Given the description of an element on the screen output the (x, y) to click on. 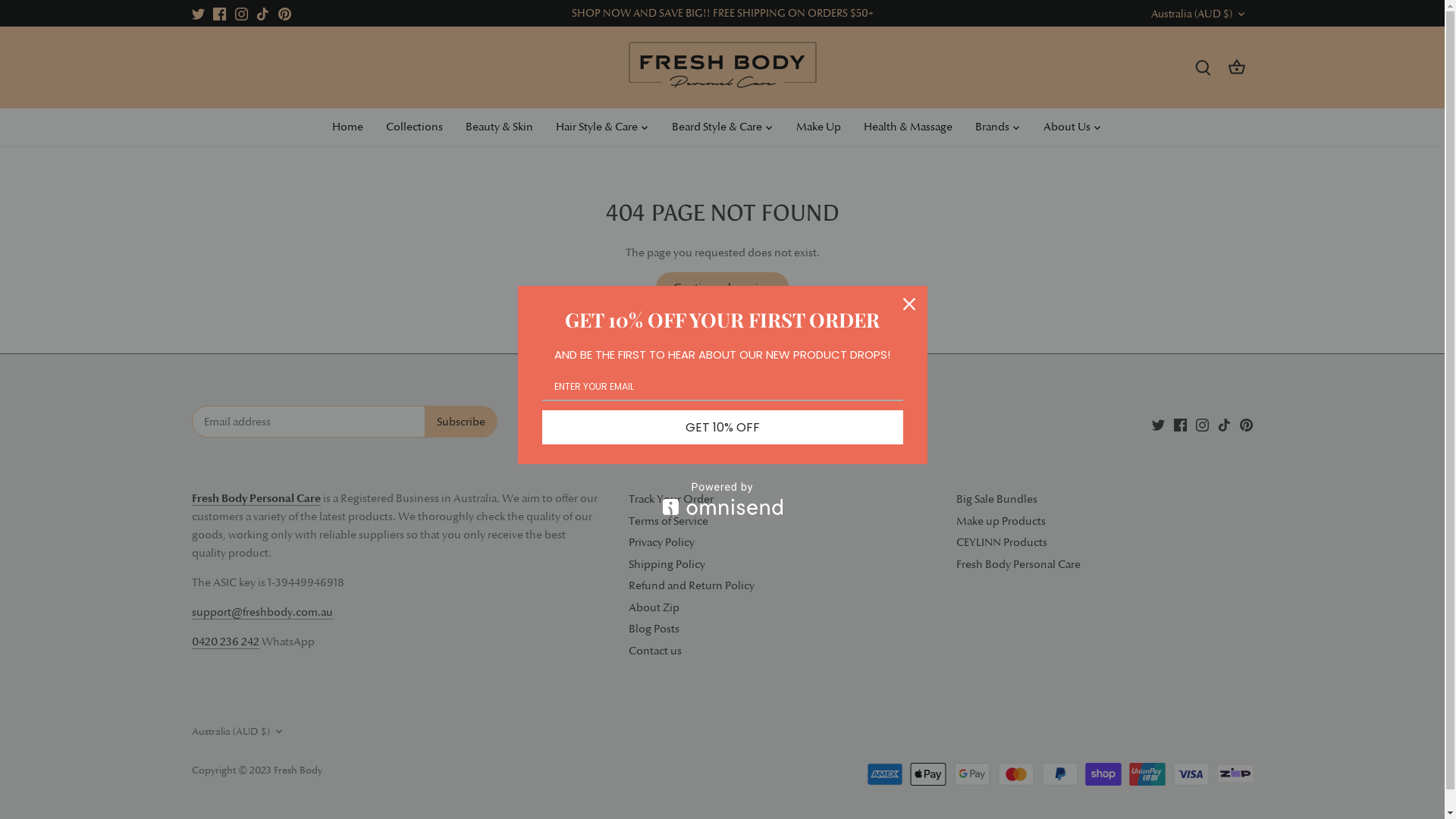
About Us Element type: text (1066, 127)
Go to cart Element type: hover (1236, 67)
Privacy Policy Element type: text (660, 542)
Beauty & Skin Element type: text (498, 127)
Refund and Return Policy Element type: text (690, 585)
Contact us Element type: text (653, 650)
Track Your Order Element type: text (669, 499)
0420 236 242 Element type: text (224, 641)
Australia (AUD $) Element type: text (1199, 13)
Subscribe Element type: text (460, 421)
Terms of Service Element type: text (667, 521)
Shipping Policy Element type: text (665, 564)
CEYLINN Products Element type: text (1000, 542)
Facebook Element type: text (219, 13)
Twitter Element type: text (1157, 424)
Hair Style & Care Element type: text (596, 127)
Blog Posts Element type: text (652, 628)
Fresh Body Element type: text (297, 769)
Australia (AUD $) Element type: text (237, 730)
Twitter Element type: text (197, 13)
Home Element type: text (353, 127)
Collections Element type: text (414, 127)
Make up Products Element type: text (999, 521)
Brands Element type: text (991, 127)
Fresh Body Personal Care Element type: text (255, 498)
Instagram Element type: text (1201, 424)
Fresh Body Personal Care Element type: text (1017, 564)
Big Sale Bundles Element type: text (995, 499)
Make Up Element type: text (817, 127)
Health & Massage Element type: text (907, 127)
Facebook Element type: text (1179, 424)
Instagram Element type: text (241, 13)
Beard Style & Care Element type: text (715, 127)
support@freshbody.com.au Element type: text (261, 612)
Back to the top Element type: text (721, 373)
About Zip Element type: text (652, 607)
Pinterest Element type: text (284, 13)
Pinterest Element type: text (1245, 424)
Continue shopping Element type: text (721, 287)
